Given the description of an element on the screen output the (x, y) to click on. 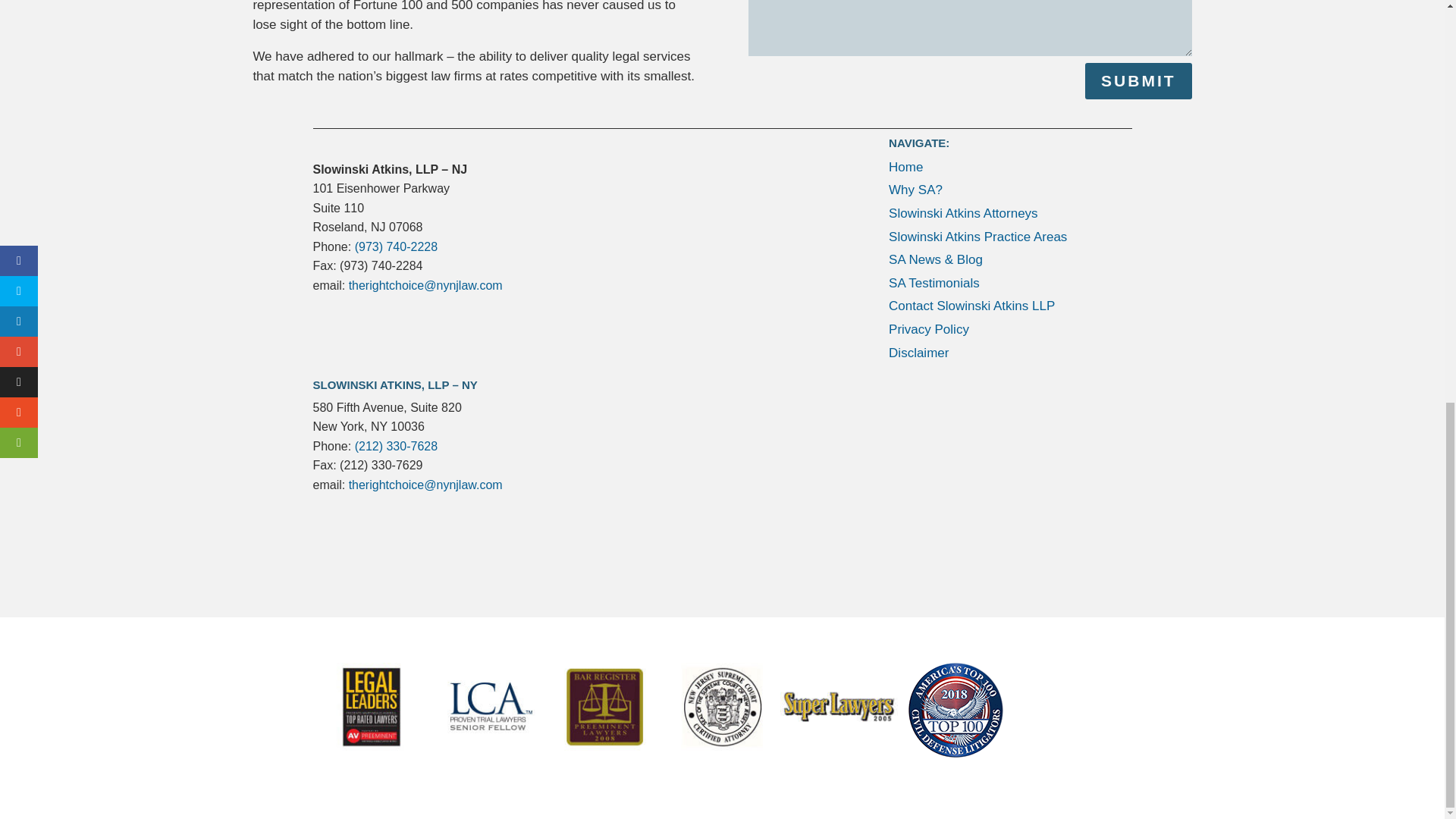
Slowinski Atkins Practice Areas (977, 237)
Home (905, 166)
Disclaimer (918, 352)
Privacy Policy (928, 329)
SUBMIT (1138, 81)
Slowinski Atkins Attorneys (963, 213)
SA Testimonials (933, 283)
Why SA? (915, 189)
Contact Slowinski Atkins LLP (971, 305)
